Given the description of an element on the screen output the (x, y) to click on. 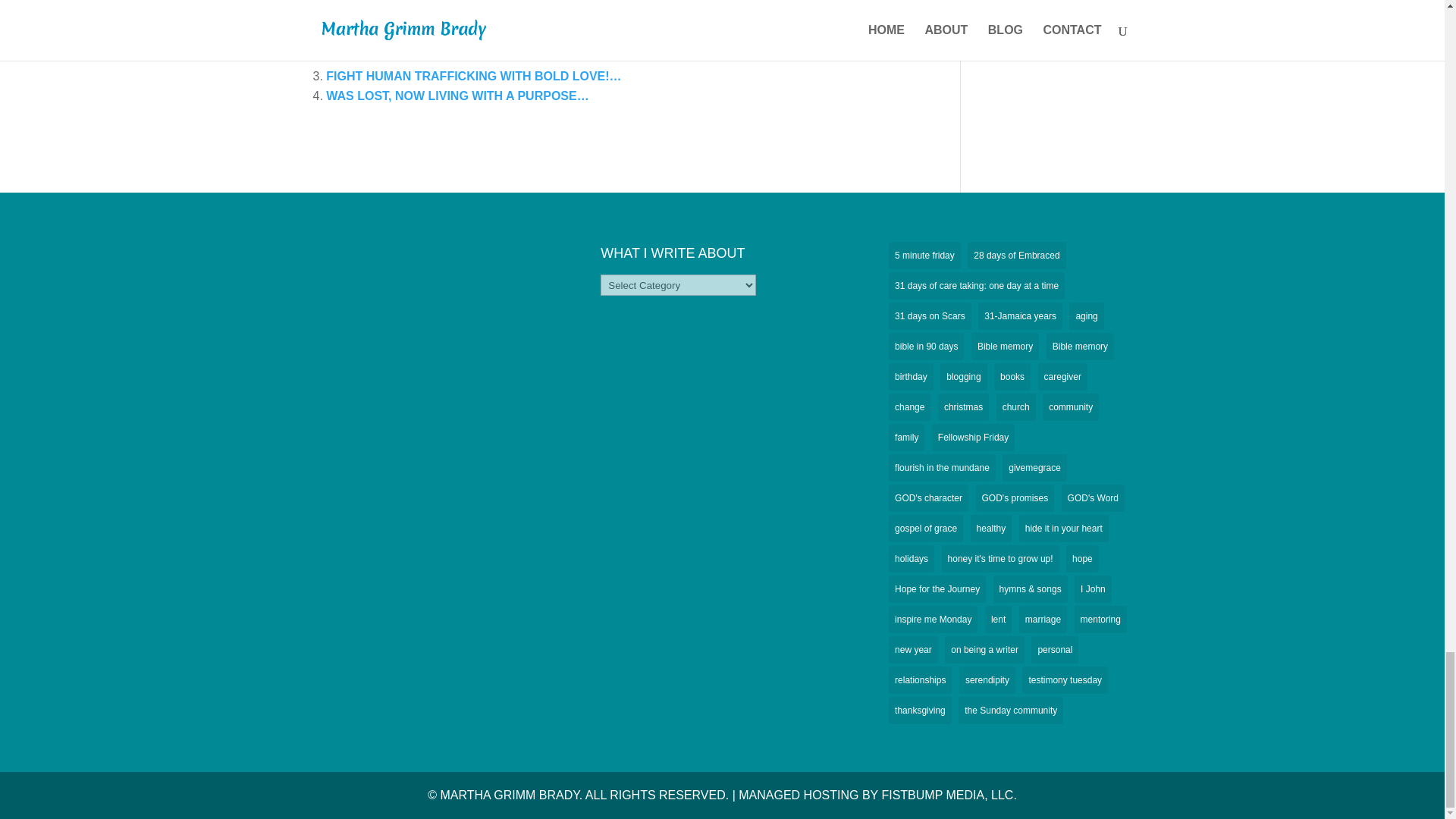
31 days of care taking: one day at a time (976, 285)
Bible memory (1005, 346)
birthday (910, 376)
Bible memory (1079, 346)
books (1012, 376)
31-Jamaica years (1020, 316)
blogging (963, 376)
bible in 90 days (925, 346)
28 days of Embraced (1016, 255)
caregiver (1062, 376)
31 days on Scars (929, 316)
aging (1085, 316)
5 minute friday (924, 255)
